Given the description of an element on the screen output the (x, y) to click on. 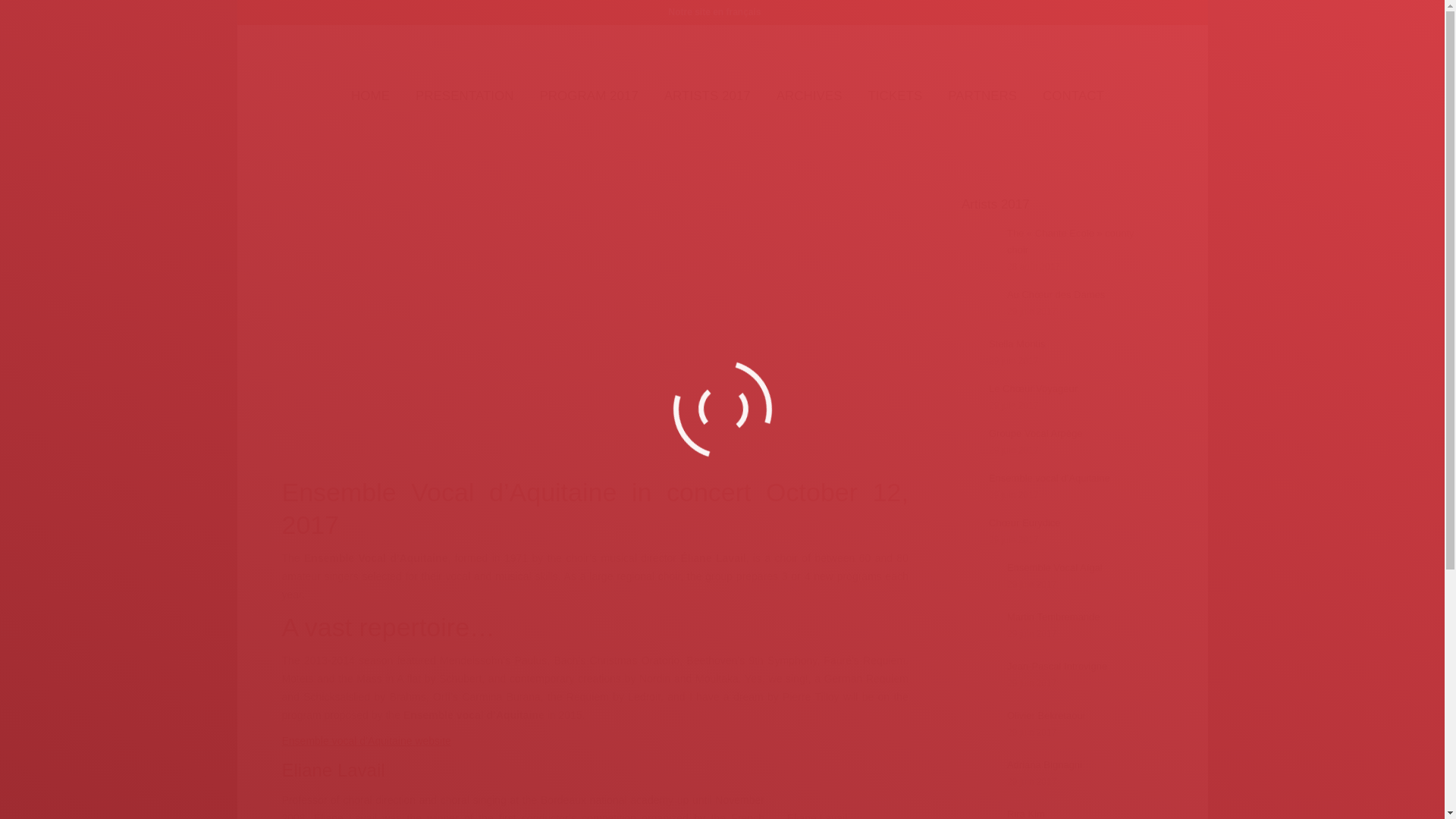
CONTACT (1073, 96)
PROGRAM 2017 (588, 96)
PARTNERS (982, 96)
ARTISTS 2017 (707, 96)
TICKETS (895, 96)
Stella Montis (1016, 343)
PRESENTATION (464, 96)
ARCHIVES (809, 96)
HOME (370, 96)
